Given the description of an element on the screen output the (x, y) to click on. 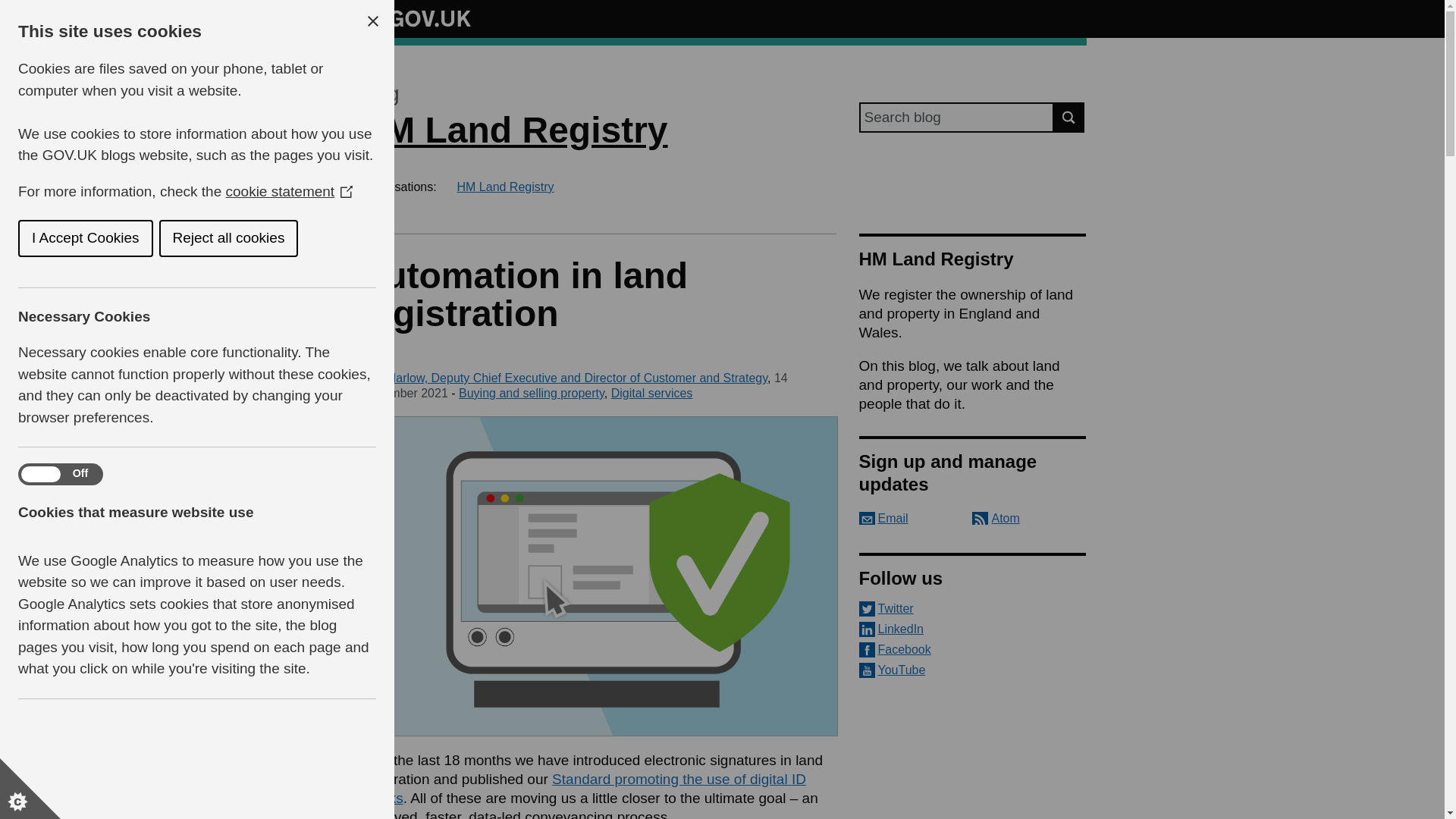
GOV.UK (414, 15)
YouTube (972, 670)
LinkedIn (972, 629)
Reject all cookies (88, 238)
Digital services (652, 392)
HM Land Registry (512, 129)
Facebook (972, 649)
Email (883, 517)
Skip to main content (11, 7)
